Given the description of an element on the screen output the (x, y) to click on. 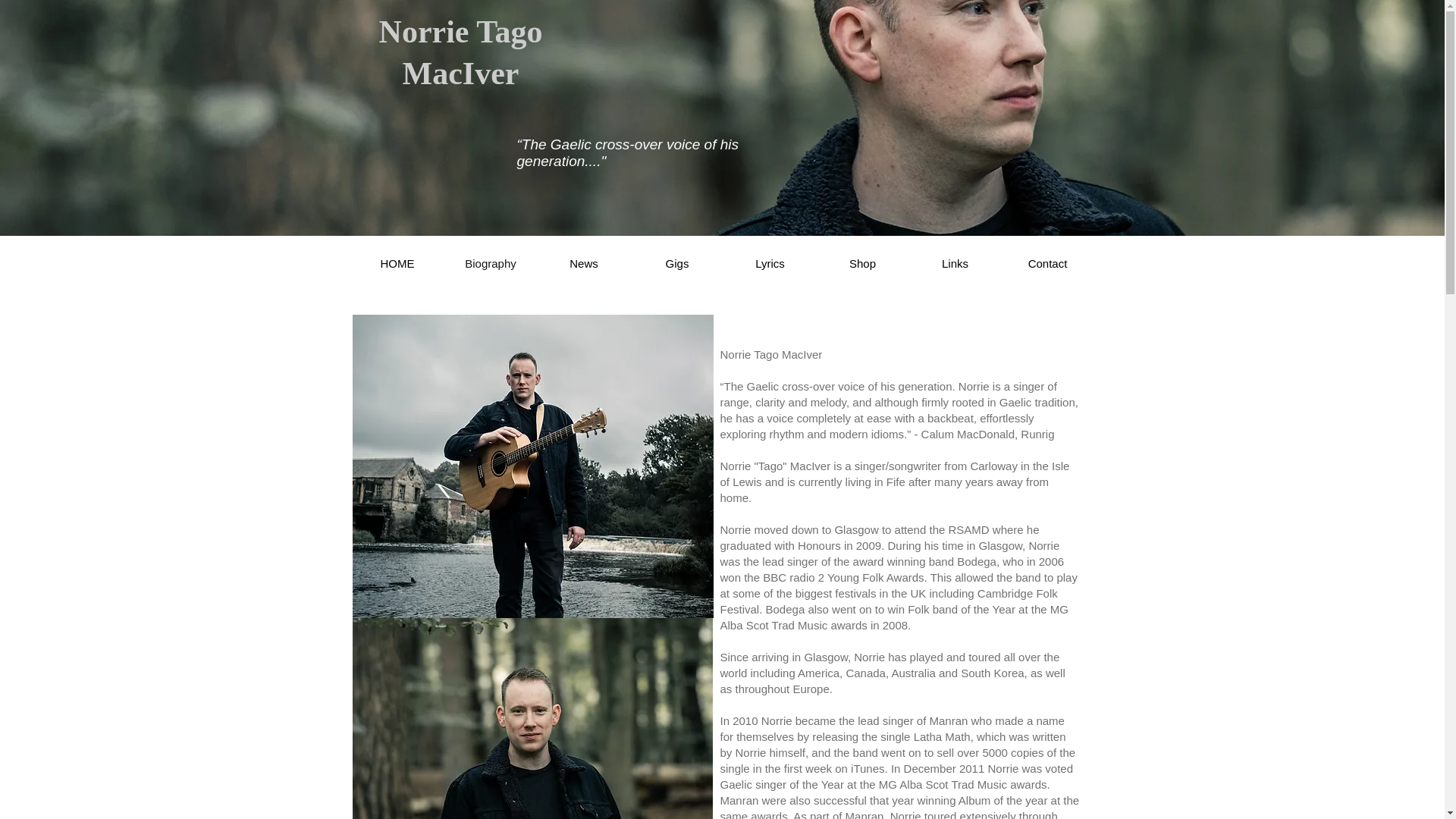
Norrie Tago MacIver (460, 52)
HOME (397, 263)
News (583, 263)
Contact (1047, 263)
Gigs (676, 263)
Biography (490, 263)
Links (954, 263)
Lyrics (769, 263)
Shop (861, 263)
